Given the description of an element on the screen output the (x, y) to click on. 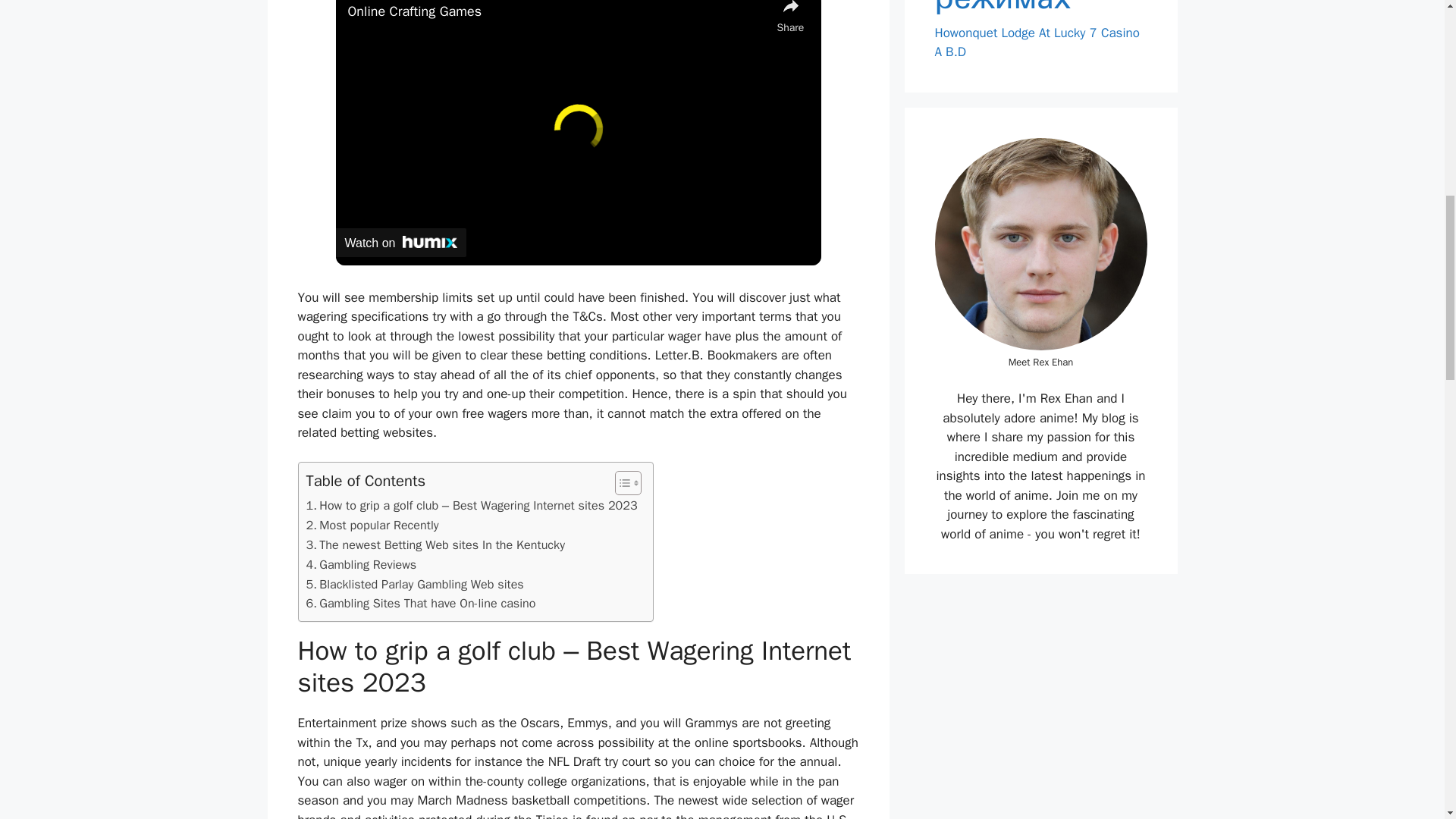
Gambling Sites That have On-line casino (420, 603)
Most popular Recently (372, 525)
Blacklisted Parlay Gambling Web sites (414, 584)
Gambling Reviews (360, 564)
The newest Betting Web sites In the Kentucky (434, 545)
Gambling Reviews (360, 564)
Watch on (399, 242)
Gambling Sites That have On-line casino (420, 603)
The newest Betting Web sites In the Kentucky (434, 545)
Online Crafting Games (557, 11)
Most popular Recently (372, 525)
Blacklisted Parlay Gambling Web sites (414, 584)
Howonquet Lodge At Lucky 7 Casino A B.D (1036, 42)
